Given the description of an element on the screen output the (x, y) to click on. 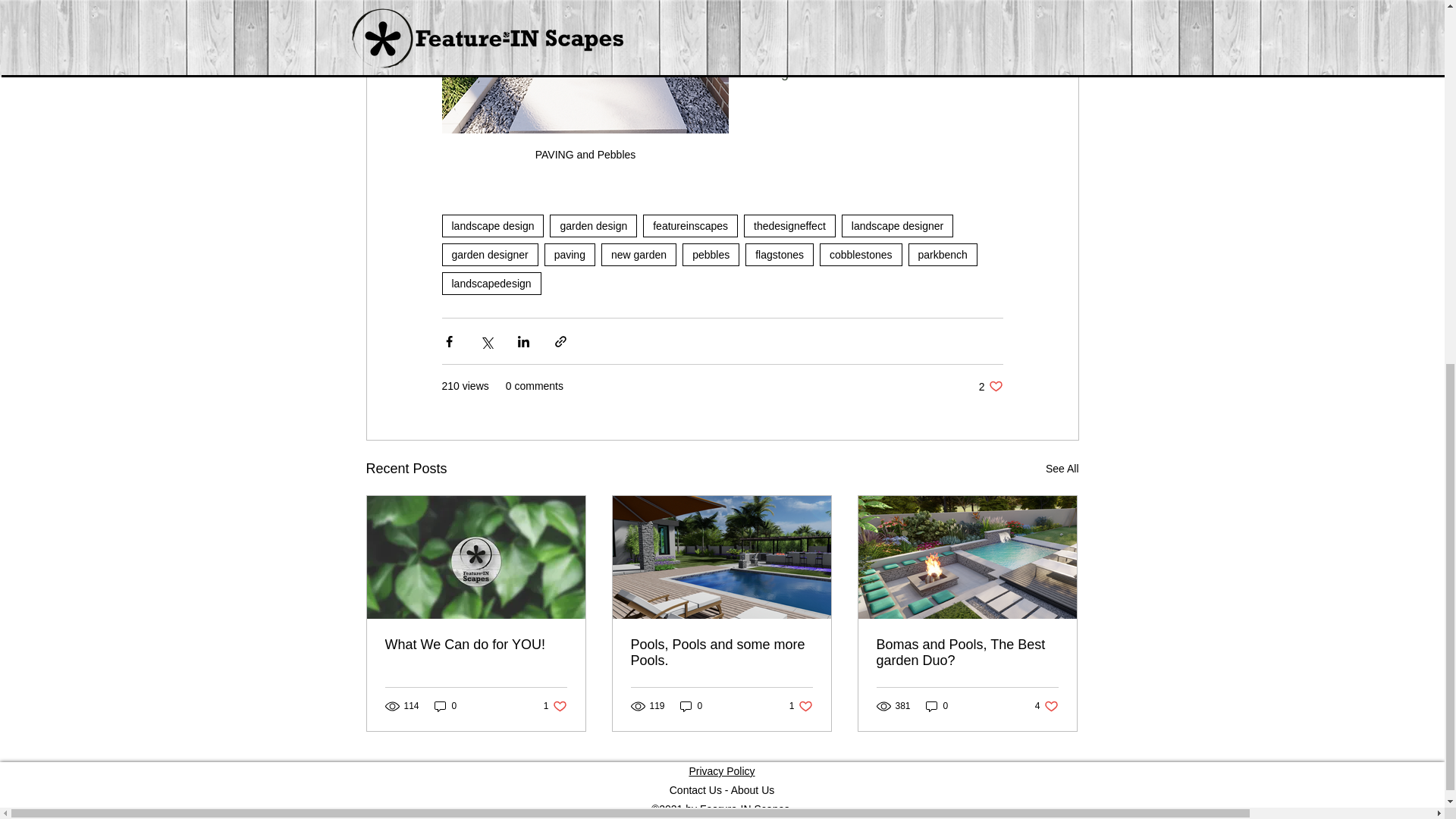
See All (1061, 468)
thedesigneffect (789, 225)
cobblestones (860, 254)
landscape design (492, 225)
landscapedesign (490, 282)
garden designer (489, 254)
flagstones (779, 254)
new garden (990, 386)
landscape designer (639, 254)
paving (897, 225)
What We Can do for YOU! (569, 254)
garden design (476, 644)
parkbench (593, 225)
featureinscapes (942, 254)
